Given the description of an element on the screen output the (x, y) to click on. 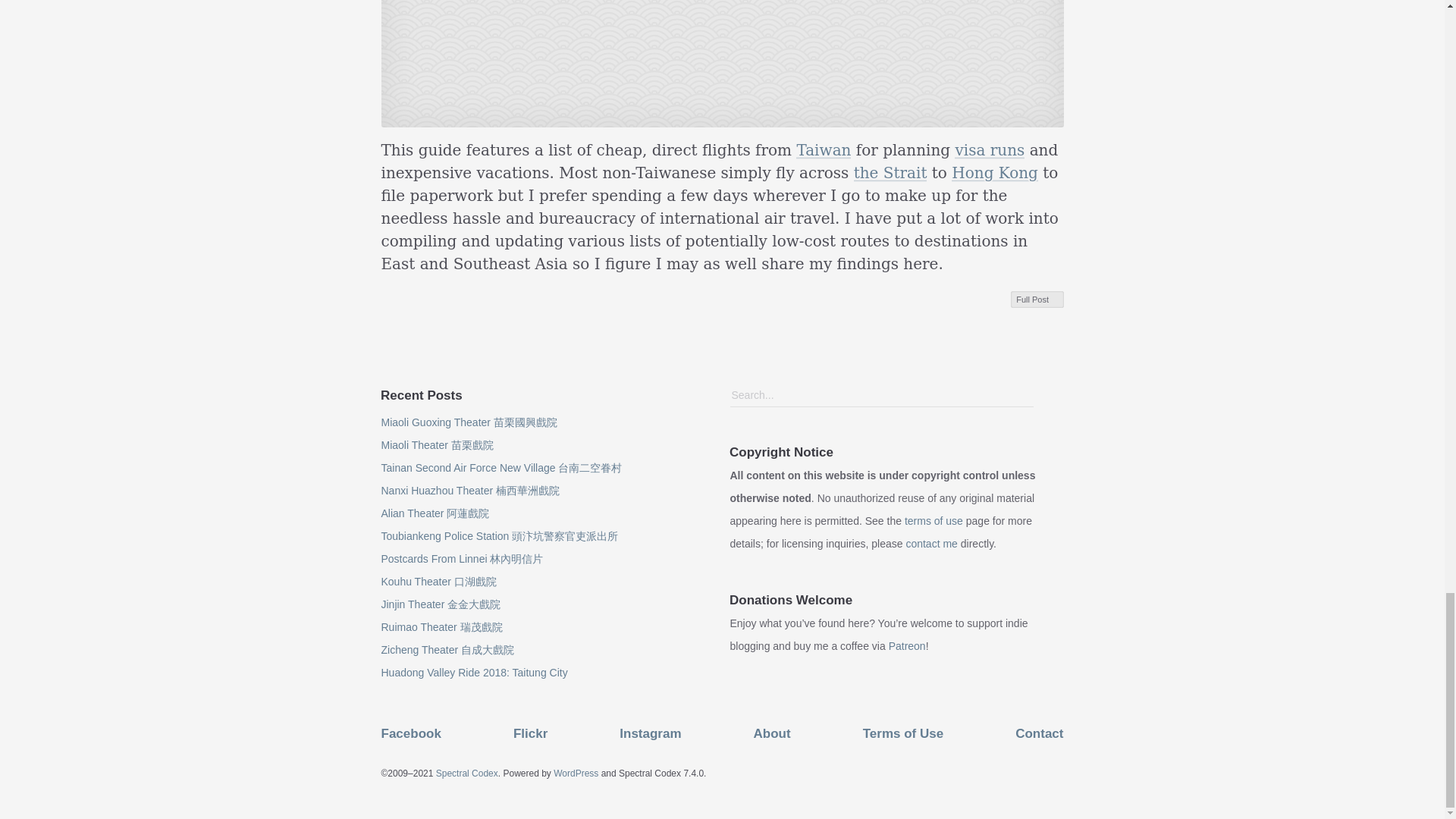
Search... (881, 395)
